Given the description of an element on the screen output the (x, y) to click on. 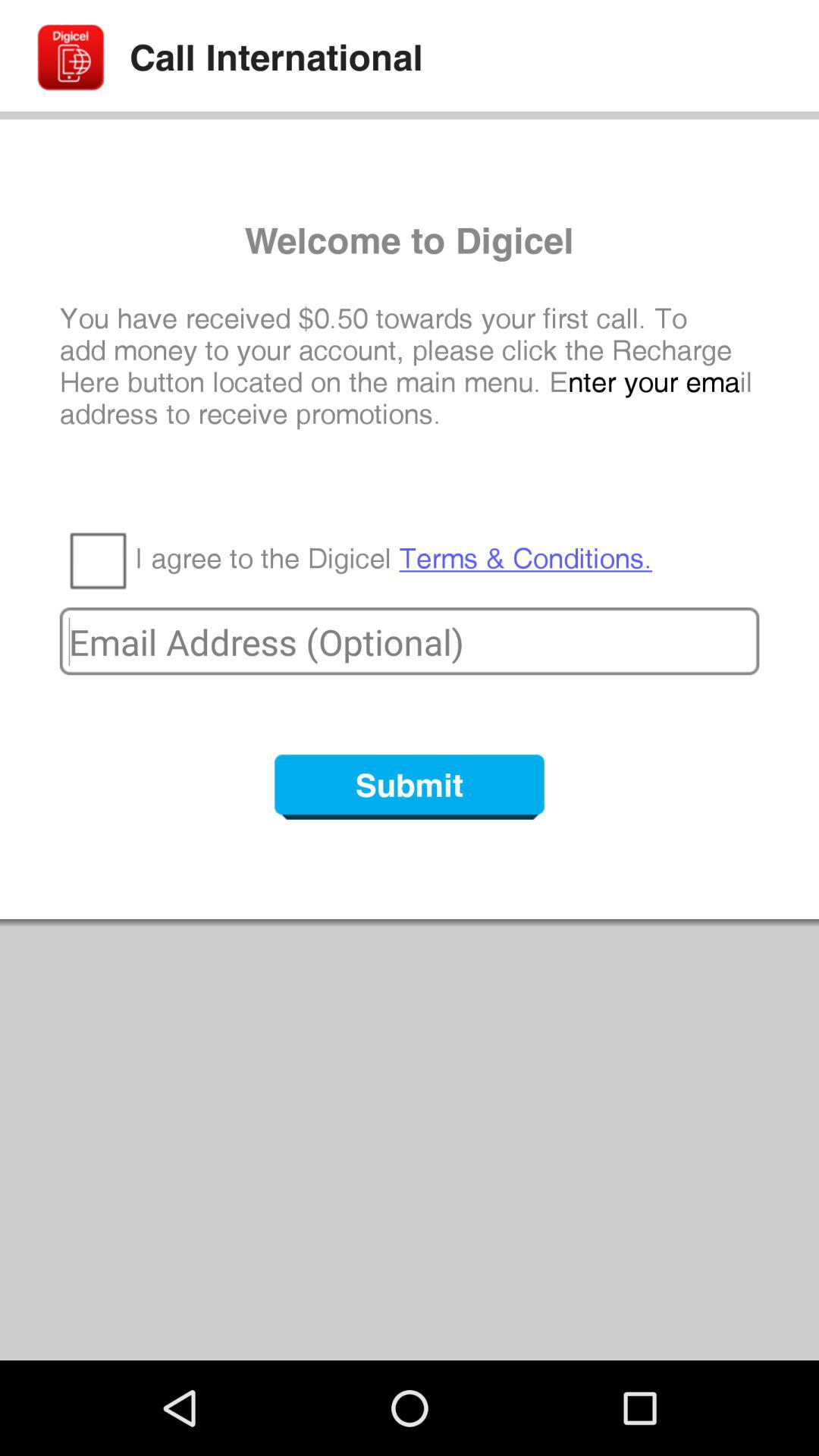
launch the icon below the you have received icon (393, 559)
